Given the description of an element on the screen output the (x, y) to click on. 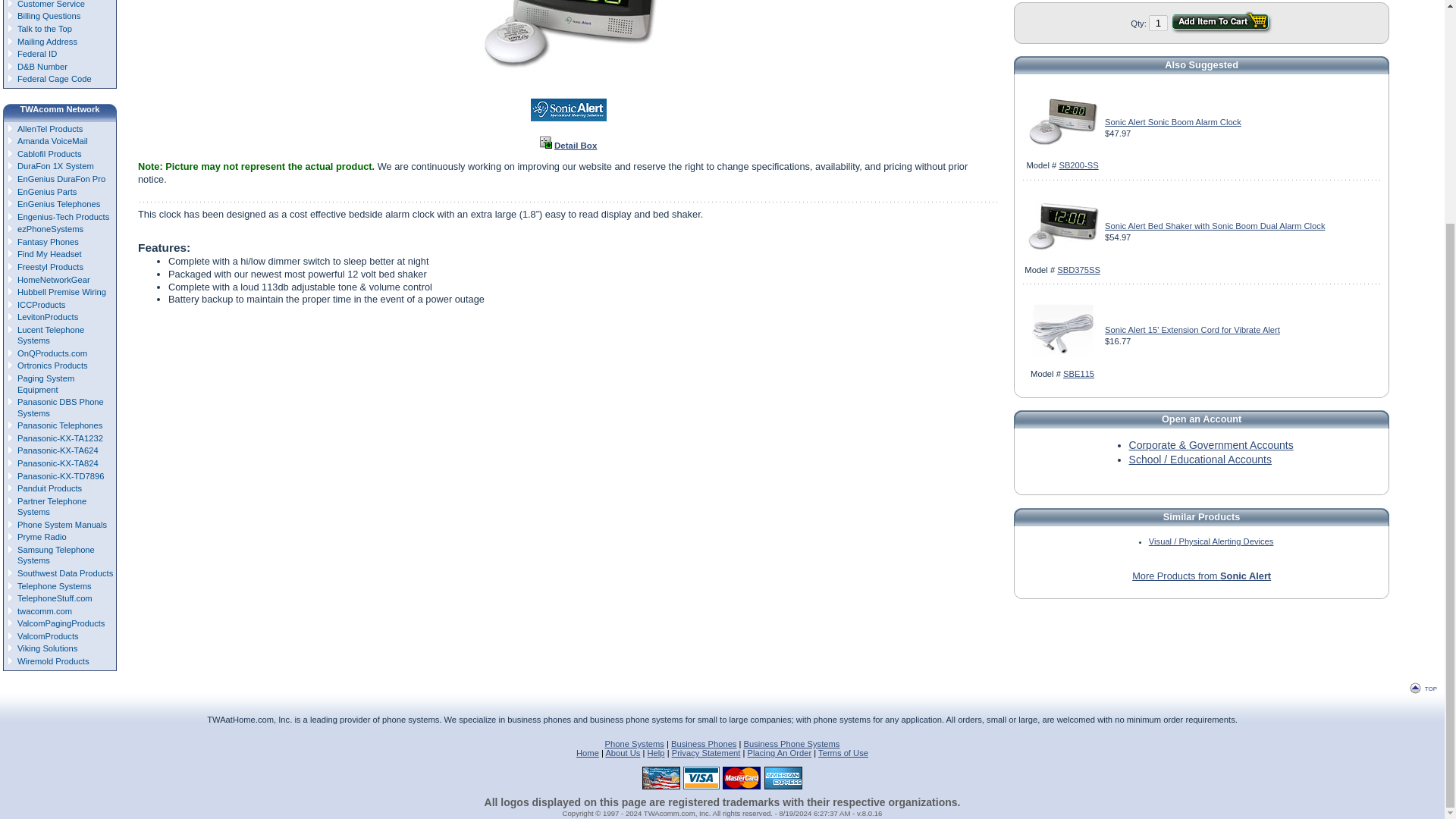
Add To Cart (1220, 23)
HomeNetworkGear (61, 279)
Sonic Alert Bed Shaker with Sonic Boom Dual Alarm Clock (1214, 225)
EnGenius DuraFon Pro (61, 179)
EnGenius Telephones (61, 204)
LevitonProducts (61, 317)
SB200-SS (1077, 164)
ezPhoneSystems (61, 229)
Detail Box (575, 144)
ICCProducts (61, 305)
